Given the description of an element on the screen output the (x, y) to click on. 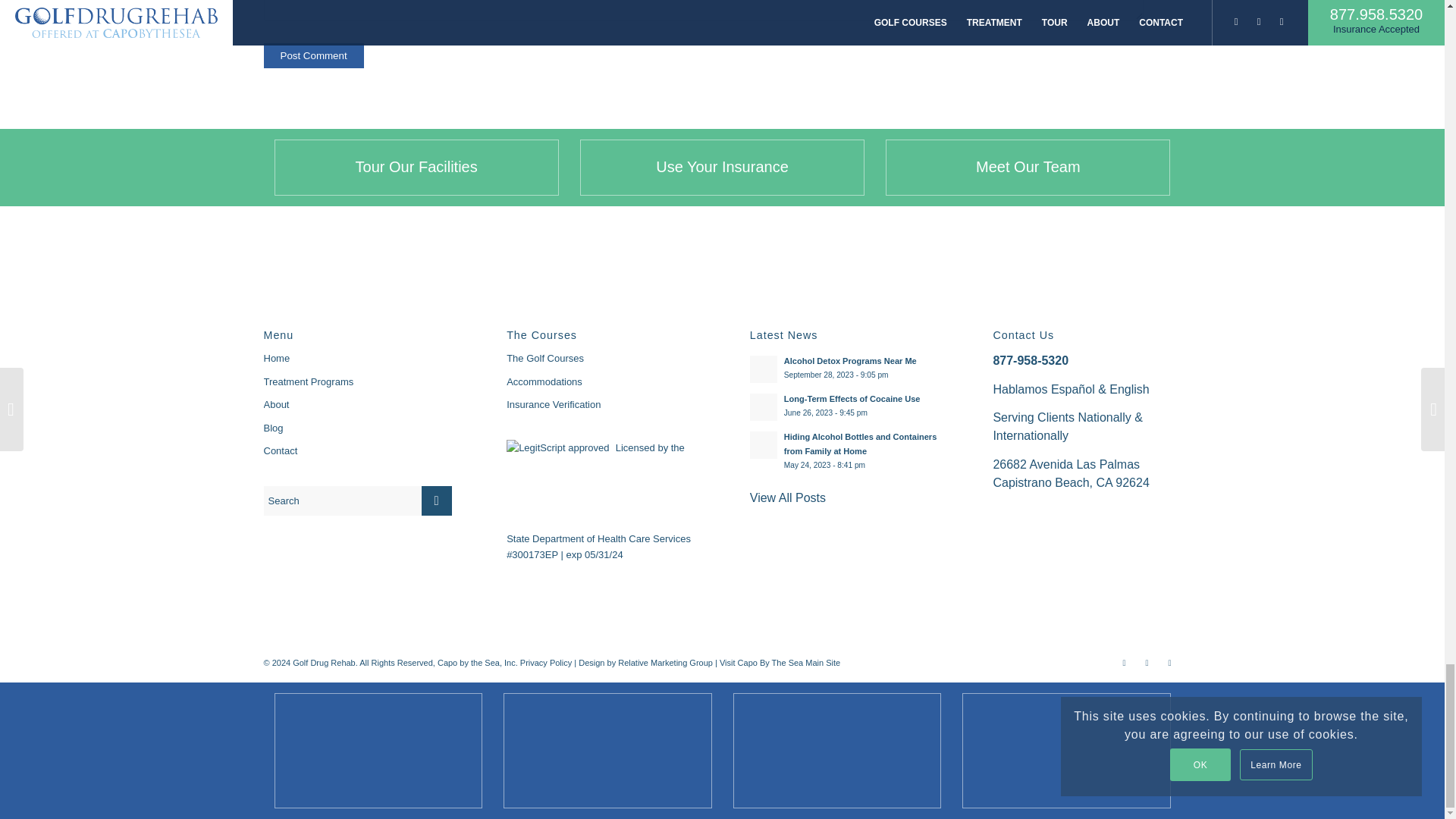
Alcohol Detox Programs Near Me (843, 367)
Verify LegitScript Approval (559, 447)
Post Comment (313, 55)
